Given the description of an element on the screen output the (x, y) to click on. 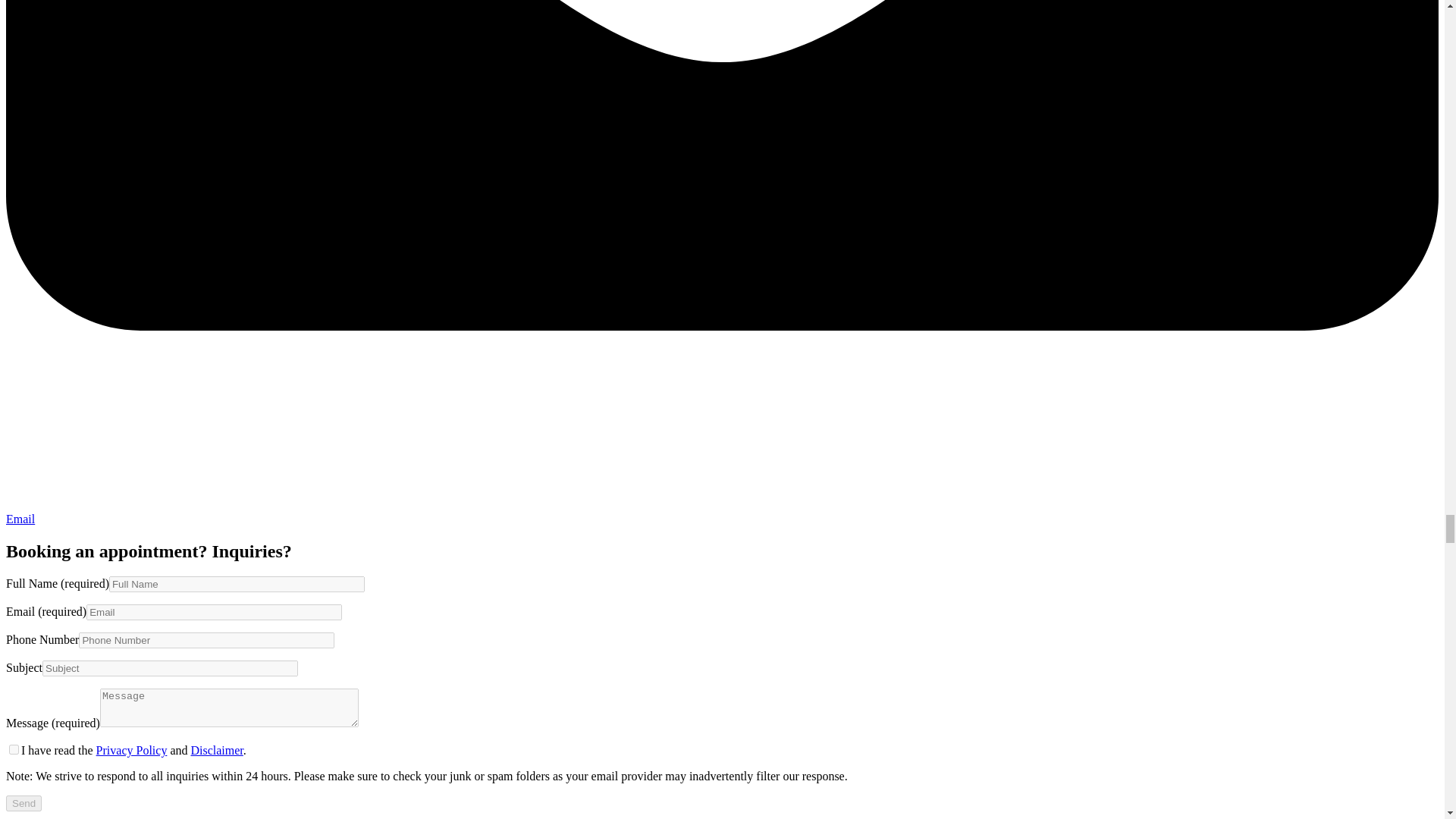
Send (23, 803)
1 (13, 749)
